Given the description of an element on the screen output the (x, y) to click on. 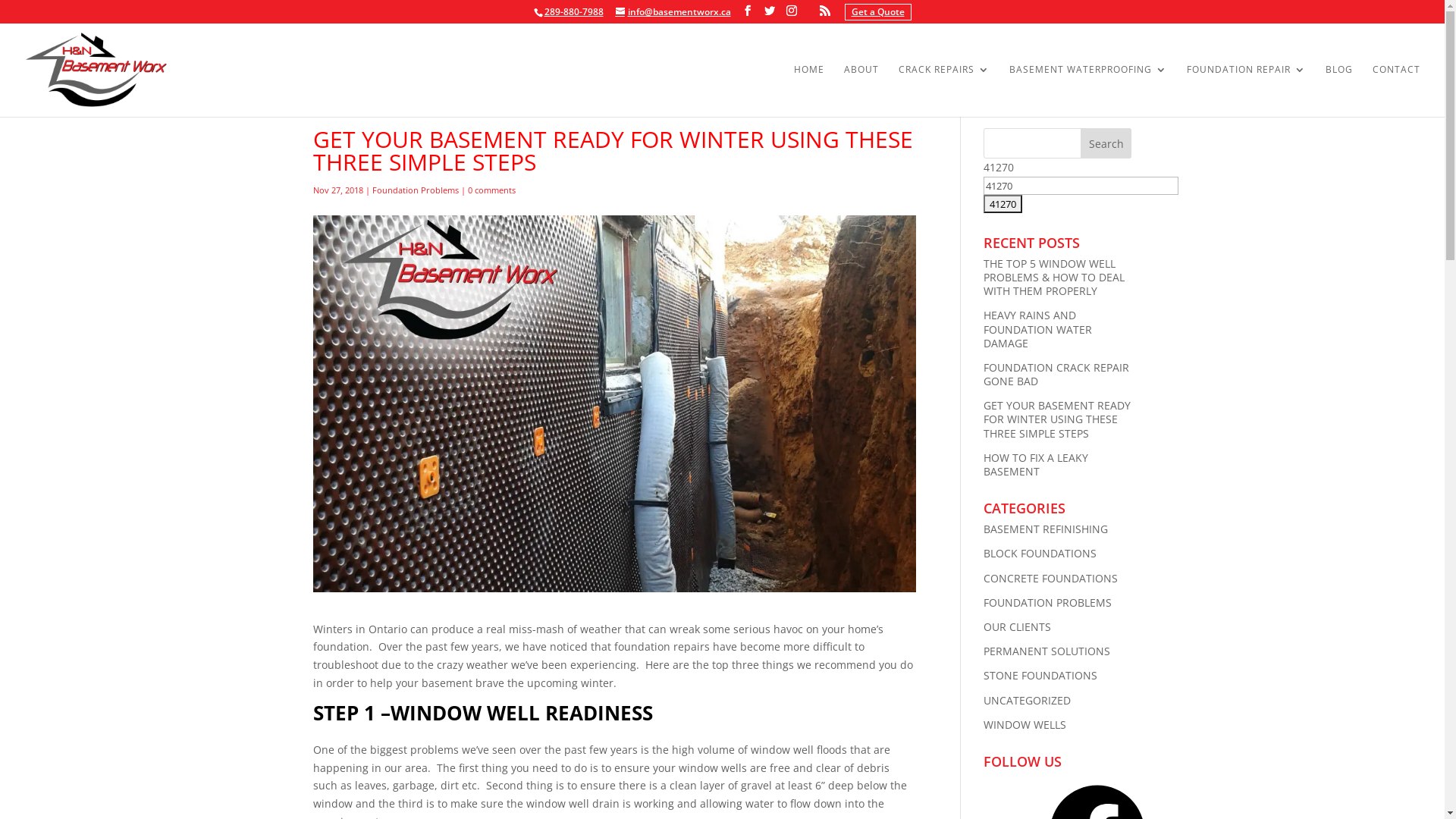
0 comments Element type: text (490, 195)
WINDOW WELLS Element type: text (1024, 724)
HOW TO FIX A LEAKY BASEMENT Element type: text (1035, 464)
Foundation Problems Element type: text (414, 195)
BASEMENT WATERPROOFING Element type: text (1088, 90)
FOUNDATION REPAIR Element type: text (1245, 90)
CONCRETE FOUNDATIONS Element type: text (1050, 578)
ABOUT Element type: text (861, 90)
289-880-7988 Element type: text (573, 11)
info@basementworx.ca Element type: text (673, 11)
PERMANENT SOLUTIONS Element type: text (1046, 650)
BASEMENT REFINISHING Element type: text (1045, 528)
UNCATEGORIZED Element type: text (1026, 700)
STONE FOUNDATIONS Element type: text (1040, 675)
FOUNDATION PROBLEMS Element type: text (1047, 602)
OUR CLIENTS Element type: text (1017, 626)
BLOG Element type: text (1338, 90)
FOUNDATION CRACK REPAIR GONE BAD Element type: text (1056, 374)
Get a Quote Element type: text (877, 11)
BLOCK FOUNDATIONS Element type: text (1039, 553)
41270 Element type: text (1002, 203)
Search Element type: text (1106, 143)
HOME Element type: text (808, 90)
HEAVY RAINS AND FOUNDATION WATER DAMAGE Element type: text (1037, 328)
CRACK REPAIRS Element type: text (943, 90)
CONTACT Element type: text (1396, 90)
